Given the description of an element on the screen output the (x, y) to click on. 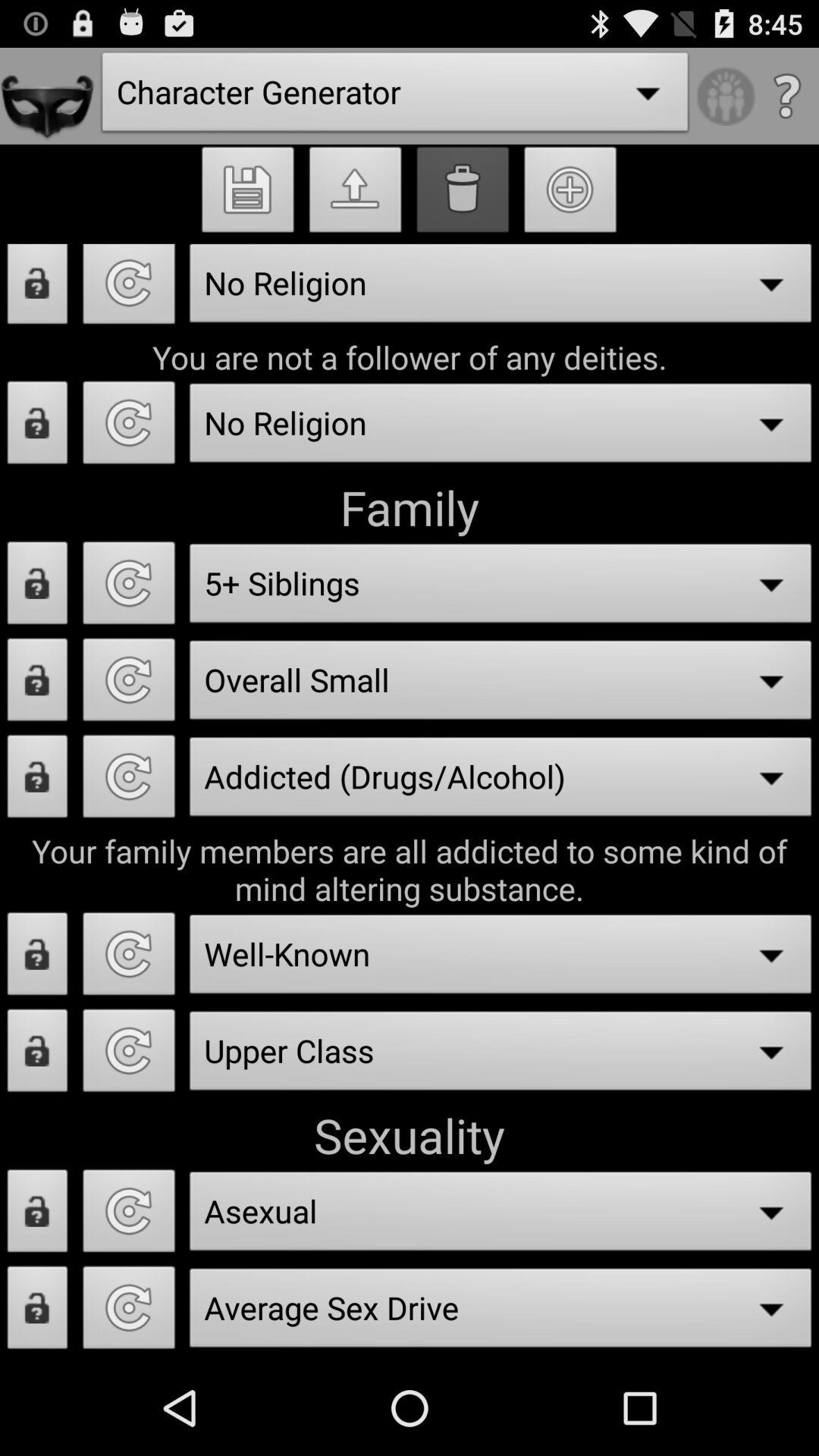
lock family settings (37, 587)
